Given the description of an element on the screen output the (x, y) to click on. 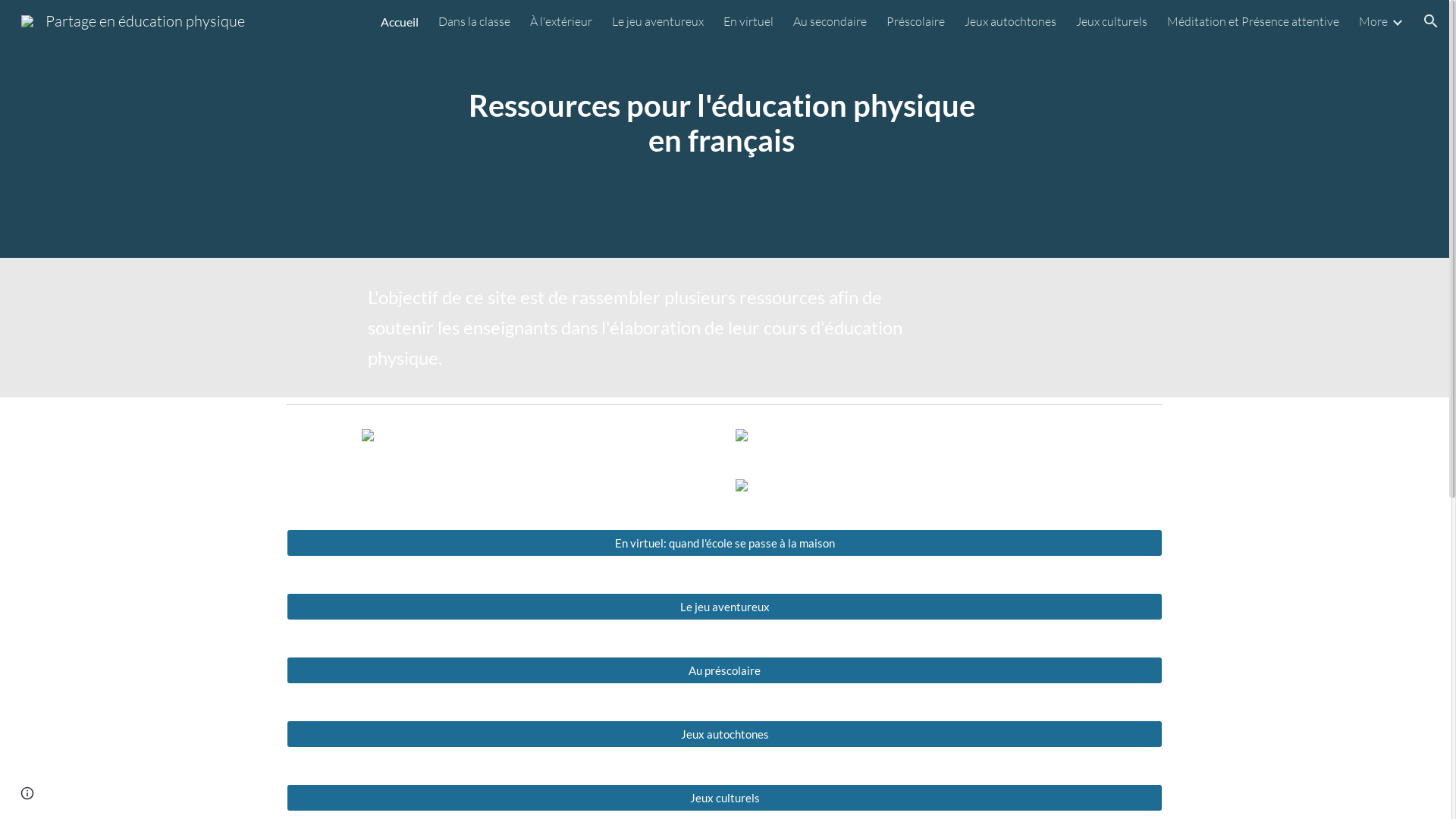
Le jeu aventureux Element type: text (724, 606)
Jeux culturels Element type: text (724, 797)
Au secondaire Element type: text (829, 20)
Accueil Element type: text (399, 20)
Dans la classe Element type: text (474, 20)
En virtuel Element type: text (748, 20)
More Element type: text (1372, 20)
Jeux autochtones Element type: text (724, 733)
Jeux autochtones Element type: text (1010, 20)
Le jeu aventureux Element type: text (657, 20)
Expand/Collapse Element type: hover (1396, 20)
Jeux culturels Element type: text (1111, 20)
